Given the description of an element on the screen output the (x, y) to click on. 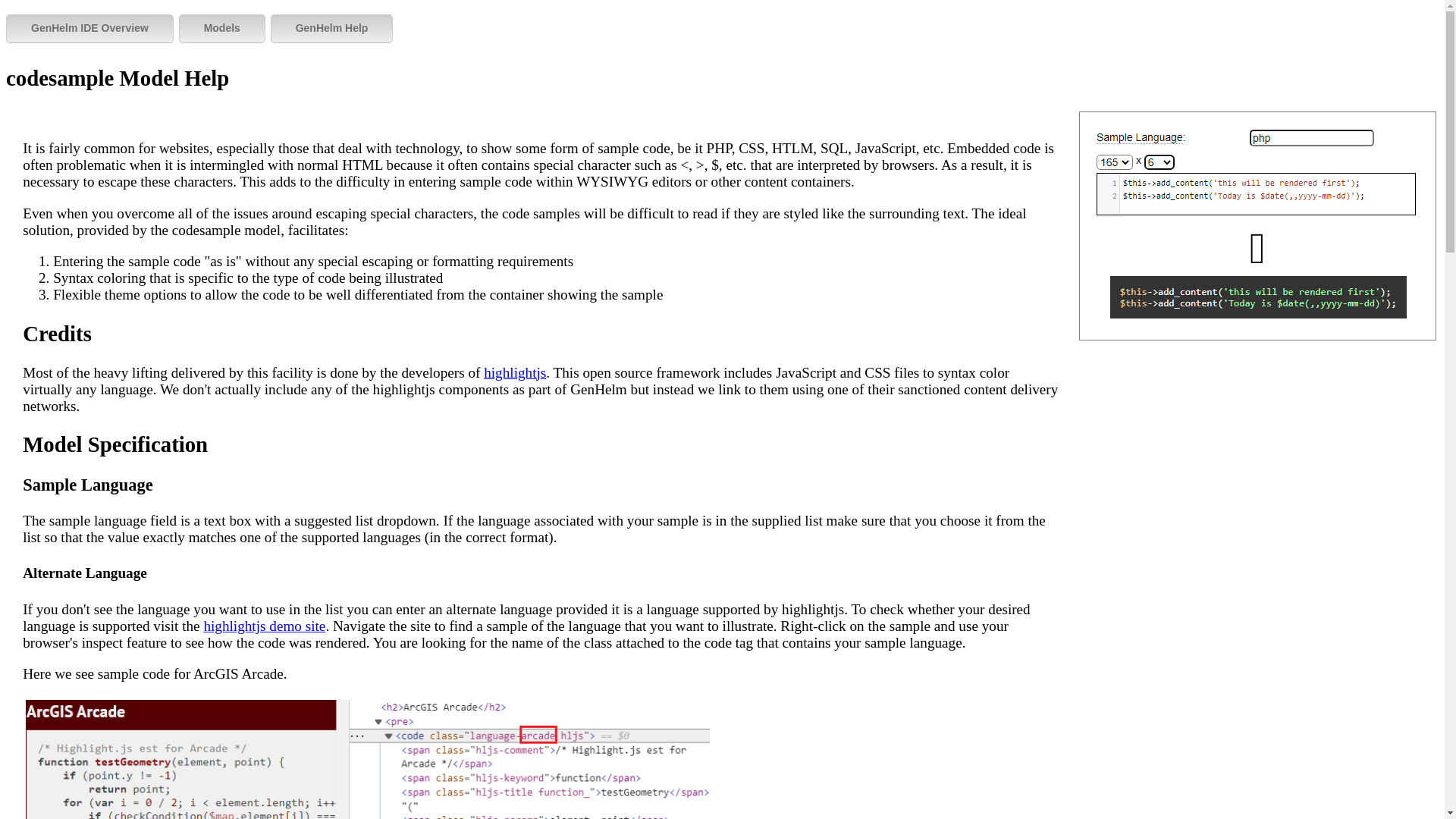
highlightjs demo site (263, 625)
GenHelm IDE Overview (89, 28)
Inspected code block at highlightjs.org demo site (368, 757)
Learn about GenHelm Models (221, 28)
Models (221, 28)
GenHelm Help (331, 28)
highlightjs (514, 371)
